Given the description of an element on the screen output the (x, y) to click on. 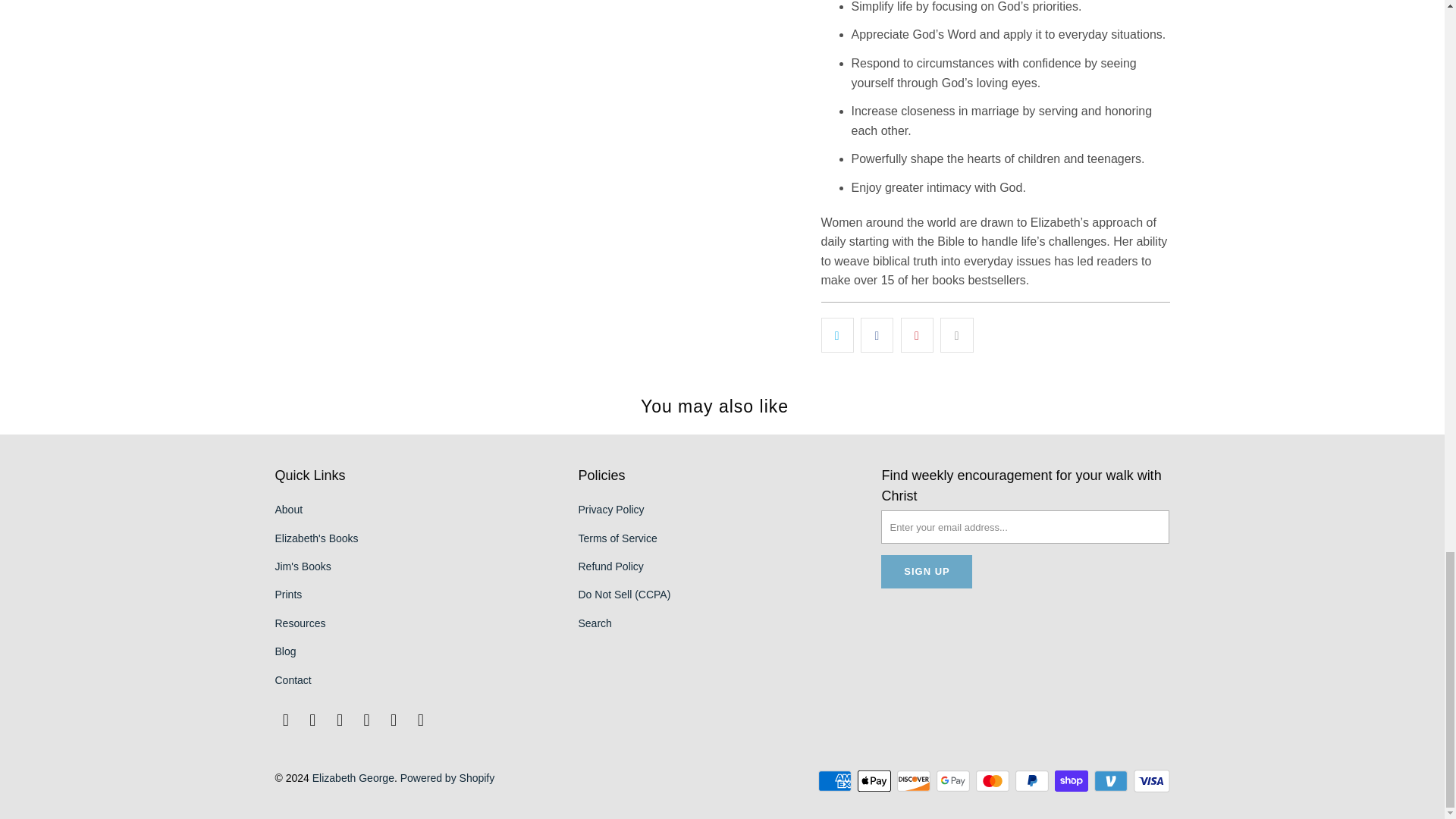
PayPal (1032, 780)
Share this on Twitter (837, 334)
Sign Up (926, 571)
Shop Pay (1072, 780)
Google Pay (954, 780)
American Express (836, 780)
Share this on Facebook (876, 334)
Mastercard (993, 780)
Discover (914, 780)
Venmo (1112, 780)
Visa (1150, 780)
Apple Pay (875, 780)
